Given the description of an element on the screen output the (x, y) to click on. 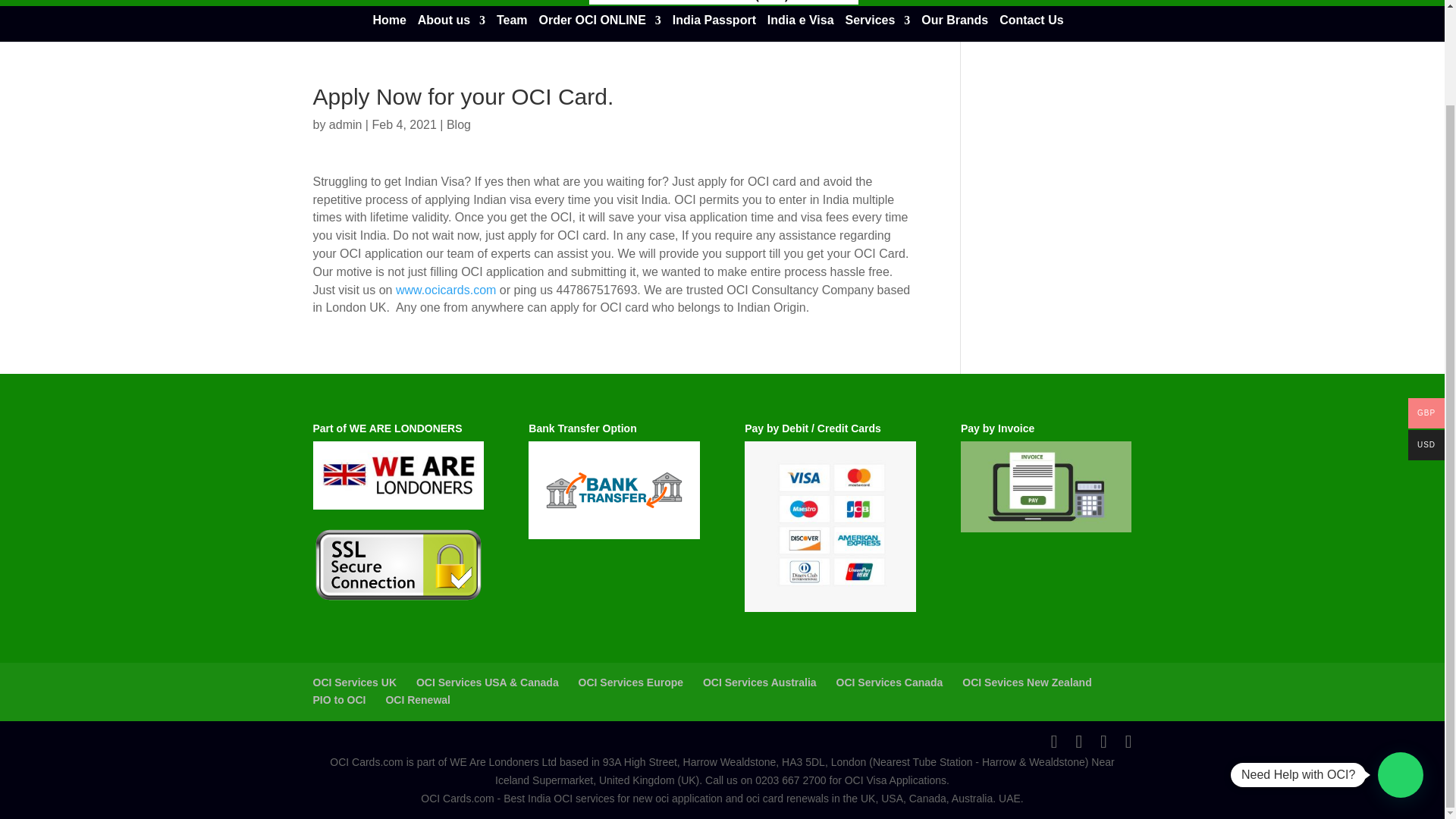
Services (877, 28)
Our Brands (954, 28)
India Passport (713, 28)
Posts by admin (345, 124)
Team (511, 28)
Contact Us (1030, 28)
Home (389, 28)
India e Visa (800, 28)
About us (450, 28)
Order OCI ONLINE (599, 28)
